Given the description of an element on the screen output the (x, y) to click on. 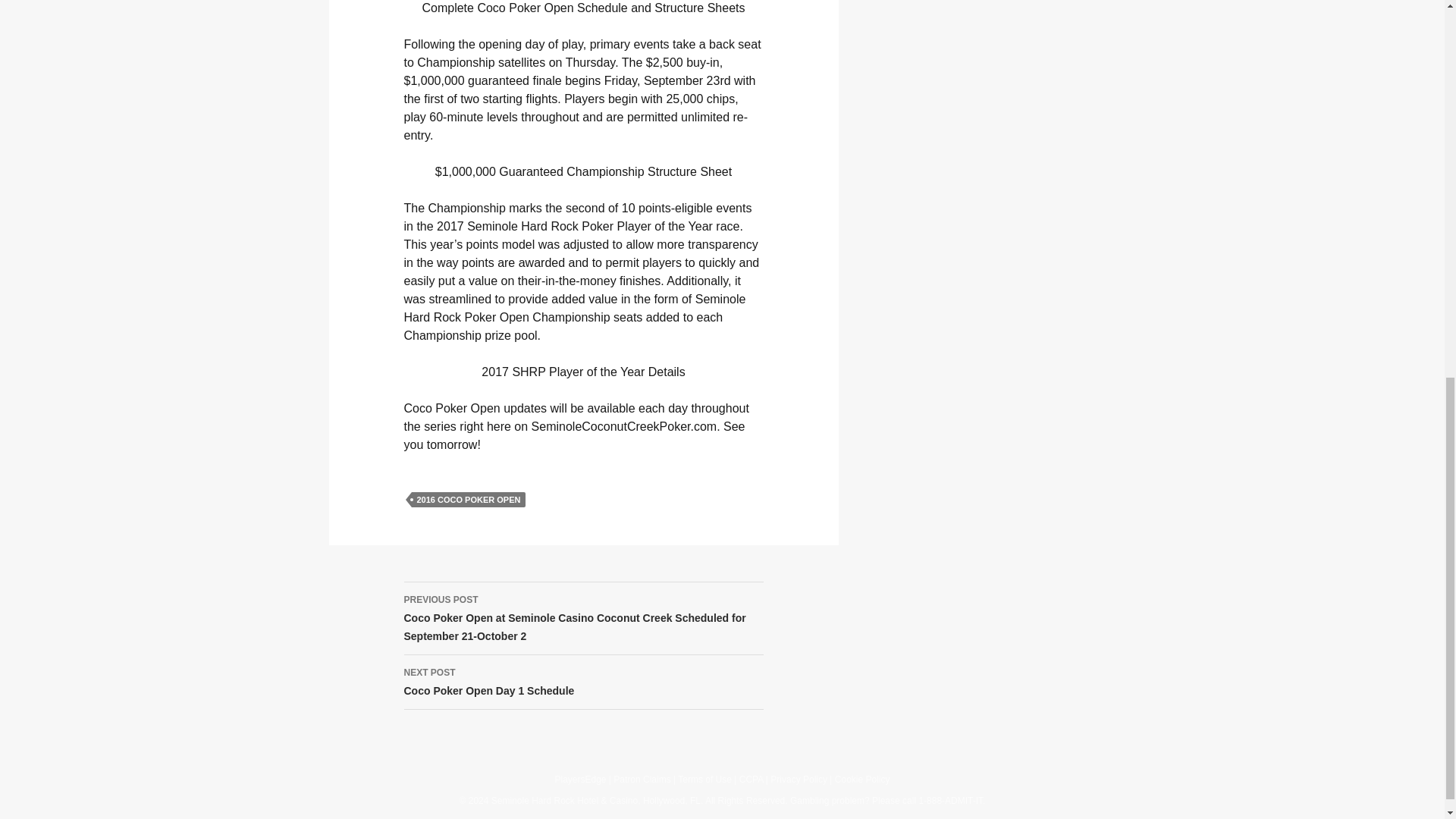
2017 SHRP Player of the Year Details (582, 371)
Cookie Policy (861, 778)
Patron Claims (640, 778)
Privacy Policy (798, 778)
Complete Coco Poker Open Schedule and Structure Sheets (583, 7)
PlayersEdge (579, 778)
2016 COCO POKER OPEN (467, 499)
CCPA (582, 682)
